Given the description of an element on the screen output the (x, y) to click on. 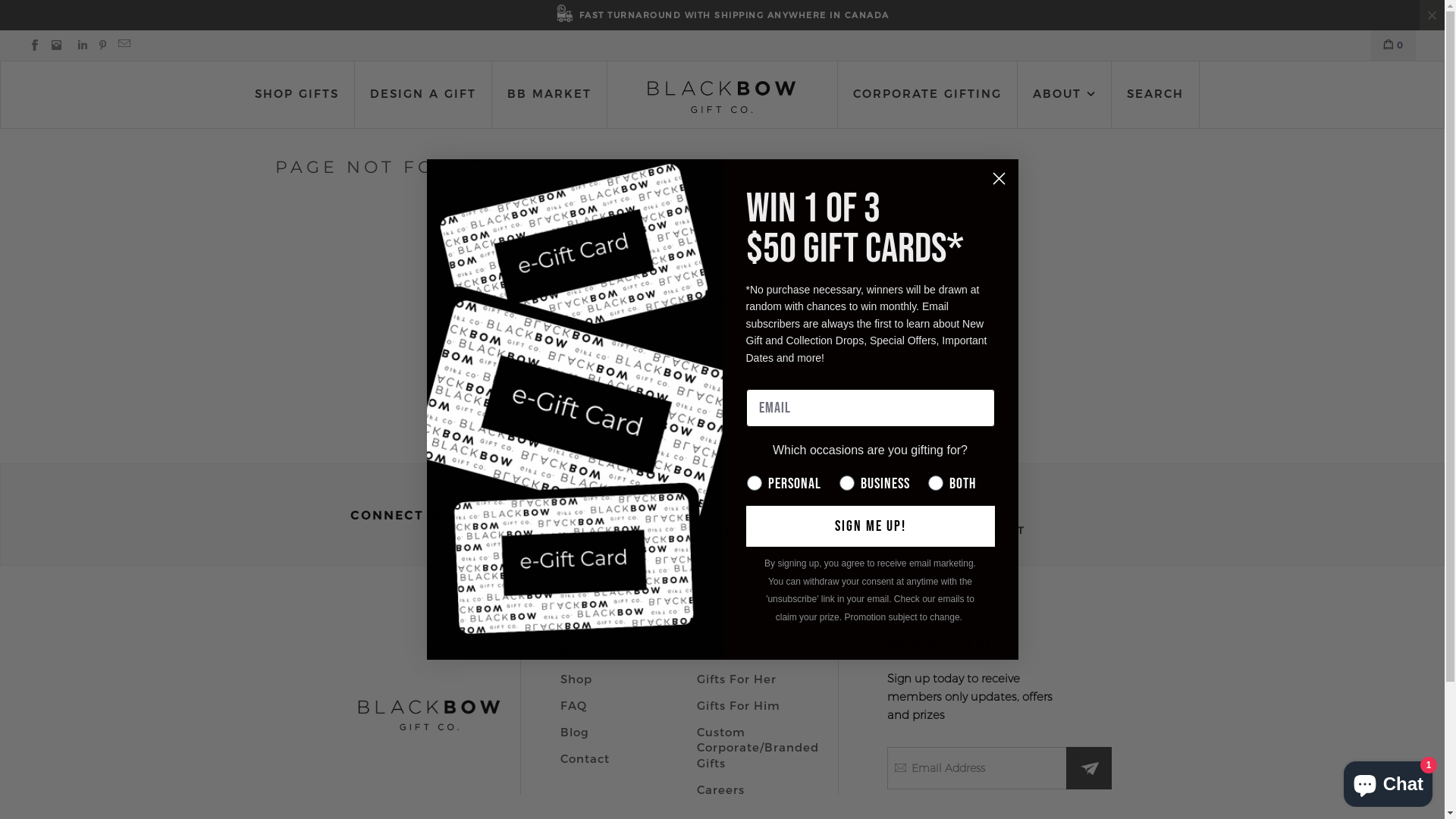
Custom Corporate/Branded Gifts Element type: text (757, 746)
Shopify online store chat Element type: hover (1388, 780)
0 Element type: text (1393, 45)
SEARCH Element type: text (1154, 94)
Black Bow Gift Co. Element type: hover (721, 96)
Shop Element type: text (575, 678)
Contact Element type: text (583, 758)
FAQ Element type: text (572, 705)
Careers Element type: text (719, 789)
Black Bow Gift Co. on Instagram Element type: hover (737, 512)
Gifts For Him Element type: text (737, 705)
Email Black Bow Gift Co. Element type: hover (112, 44)
Sign Up Element type: text (45, 20)
SHOP GIFTS Element type: text (296, 94)
DESIGN A GIFT Element type: text (423, 94)
Black Bow Gift Co. on Pinterest Element type: hover (966, 512)
Black Bow Gift Co. on LinkedIn Element type: hover (851, 512)
ABOUT Element type: text (1063, 94)
Black Bow Gift Co. on Facebook Element type: hover (622, 512)
Black Bow Gift Co. on Instagram Element type: hover (51, 44)
SIGN ME UP! Element type: text (870, 525)
Submit Element type: text (55, 16)
Gifts For Her Element type: text (735, 678)
Design Your Own Element type: text (750, 651)
Story Element type: text (575, 651)
Blog Element type: text (573, 731)
CORPORATE GIFTING Element type: text (927, 94)
BB MARKET Element type: text (549, 94)
